Given the description of an element on the screen output the (x, y) to click on. 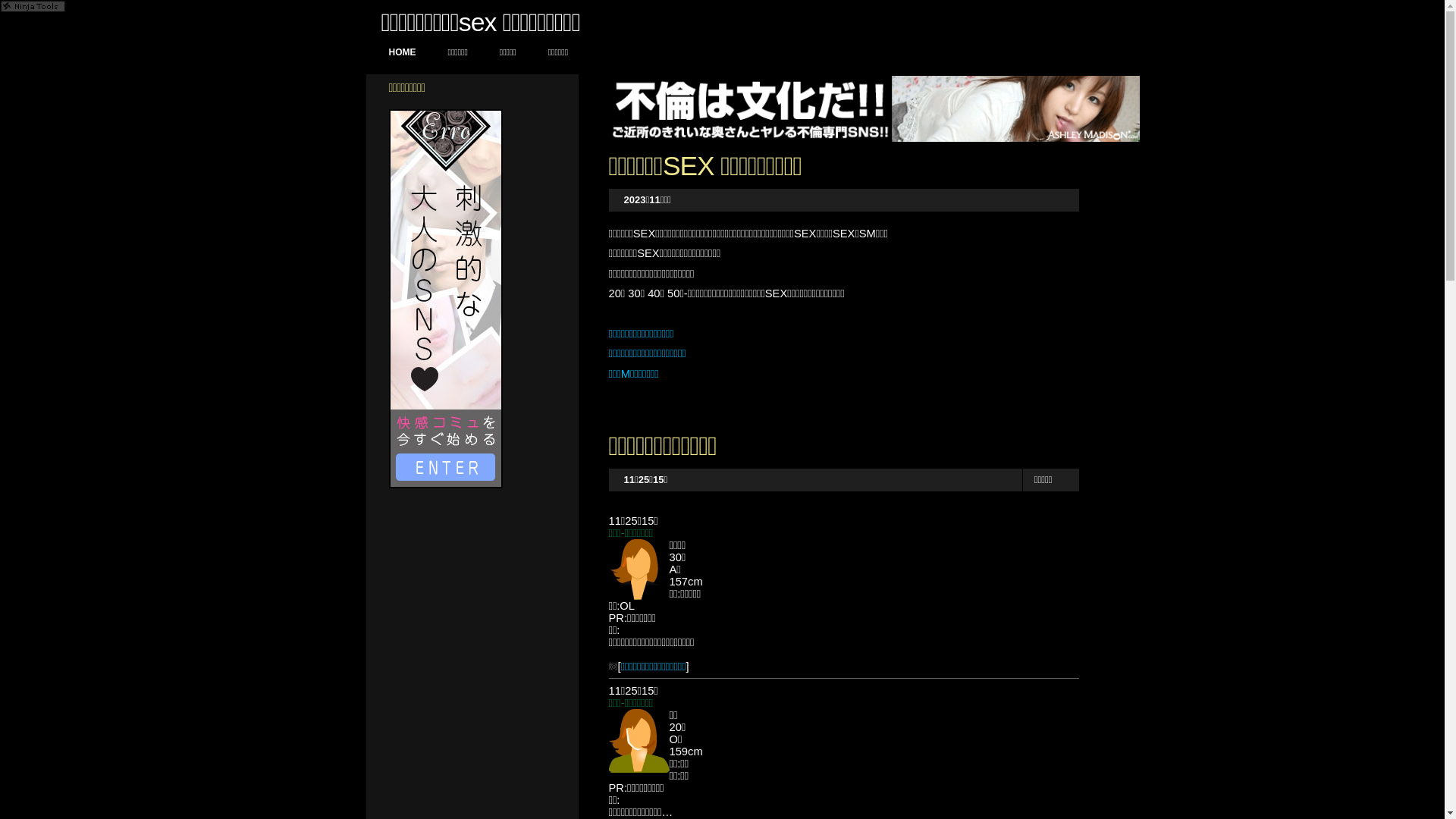
HOME Element type: text (401, 52)
